Given the description of an element on the screen output the (x, y) to click on. 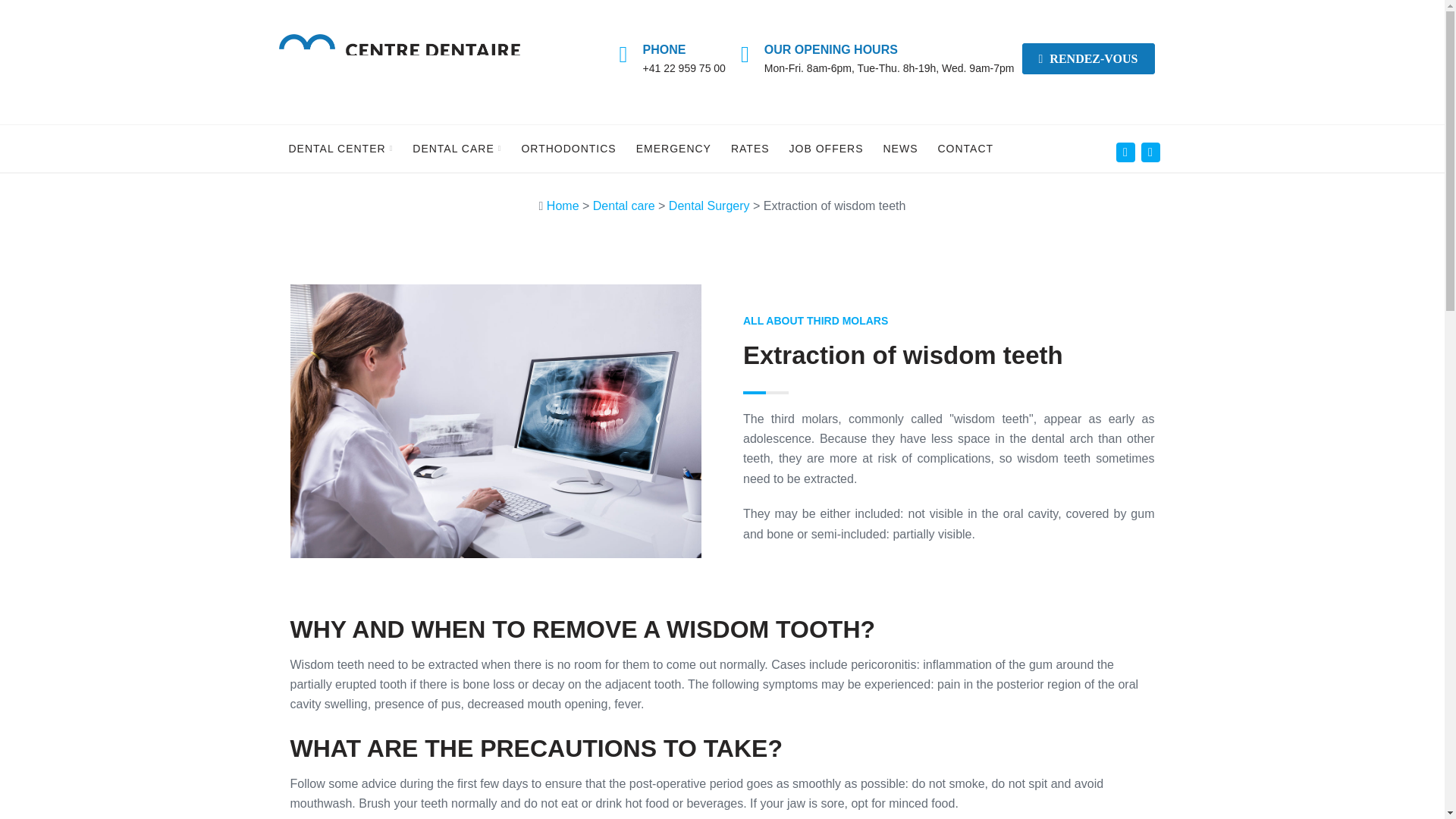
DENTAL CARE (457, 148)
Follow us! (1125, 152)
DENTAL CENTER (340, 148)
RENDEZ-VOUS (1088, 58)
Book your appointment online (1088, 58)
Follow us! (1149, 152)
